Given the description of an element on the screen output the (x, y) to click on. 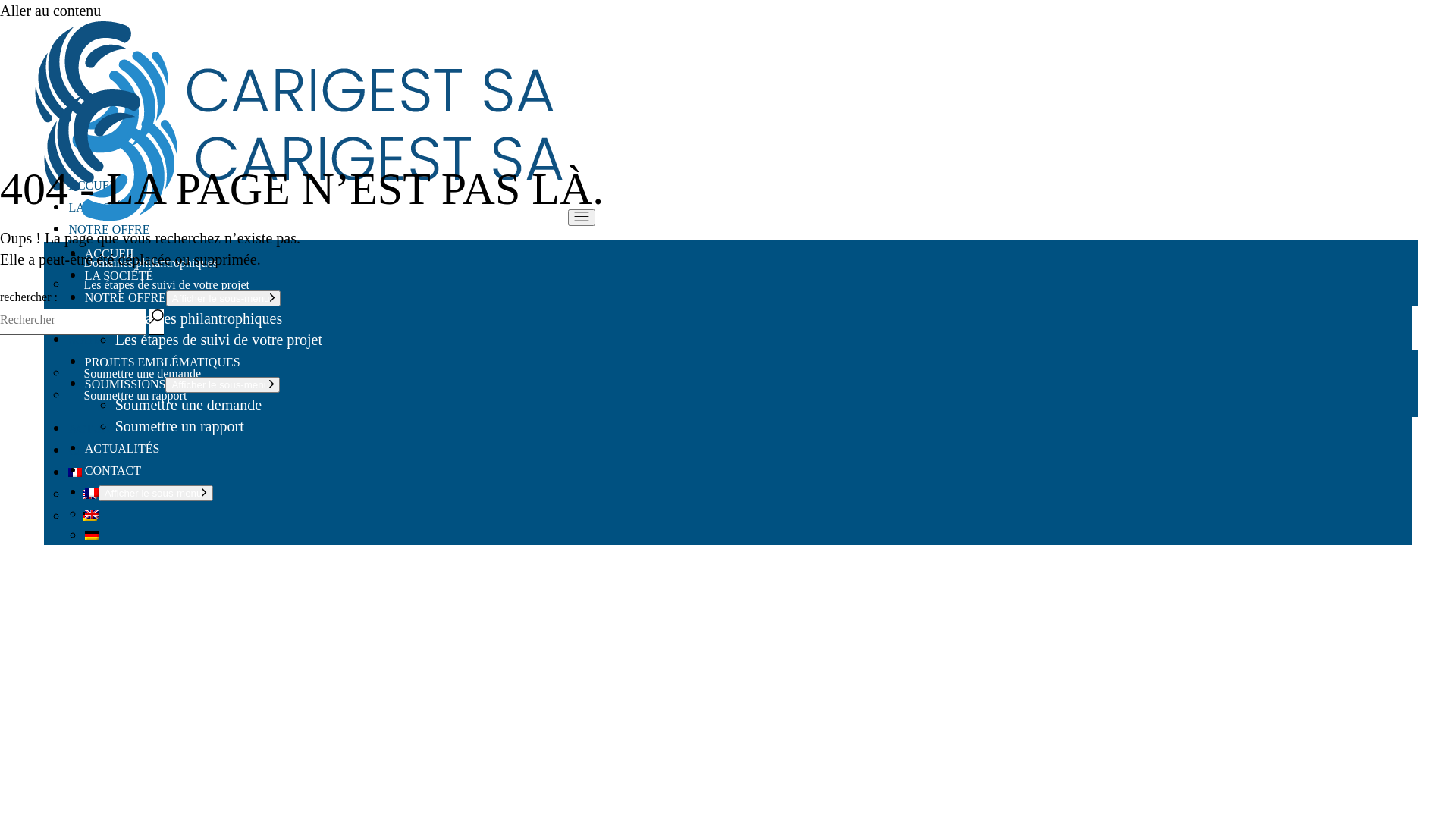
CONTACT Element type: text (96, 450)
SOUMISSIONS Element type: text (108, 339)
Domaines philantrophiques Element type: text (149, 262)
ACCUEIL Element type: text (94, 184)
Soumettre une demande Element type: text (188, 404)
Afficher le sous-menu Element type: text (222, 384)
Soumettre un rapport Element type: text (179, 425)
NOTRE OFFRE Element type: text (125, 297)
Domaines philantrophiques Element type: text (198, 318)
ACCUEIL Element type: text (110, 253)
Soumettre un rapport Element type: text (134, 395)
Soumettre une demande Element type: text (141, 373)
CONTACT Element type: text (112, 470)
NOTRE OFFRE Element type: text (108, 228)
Afficher le sous-menu Element type: text (155, 493)
SOUMISSIONS Element type: text (125, 383)
Aller au contenu Element type: text (50, 10)
Afficher le sous-menu Element type: text (223, 298)
